Given the description of an element on the screen output the (x, y) to click on. 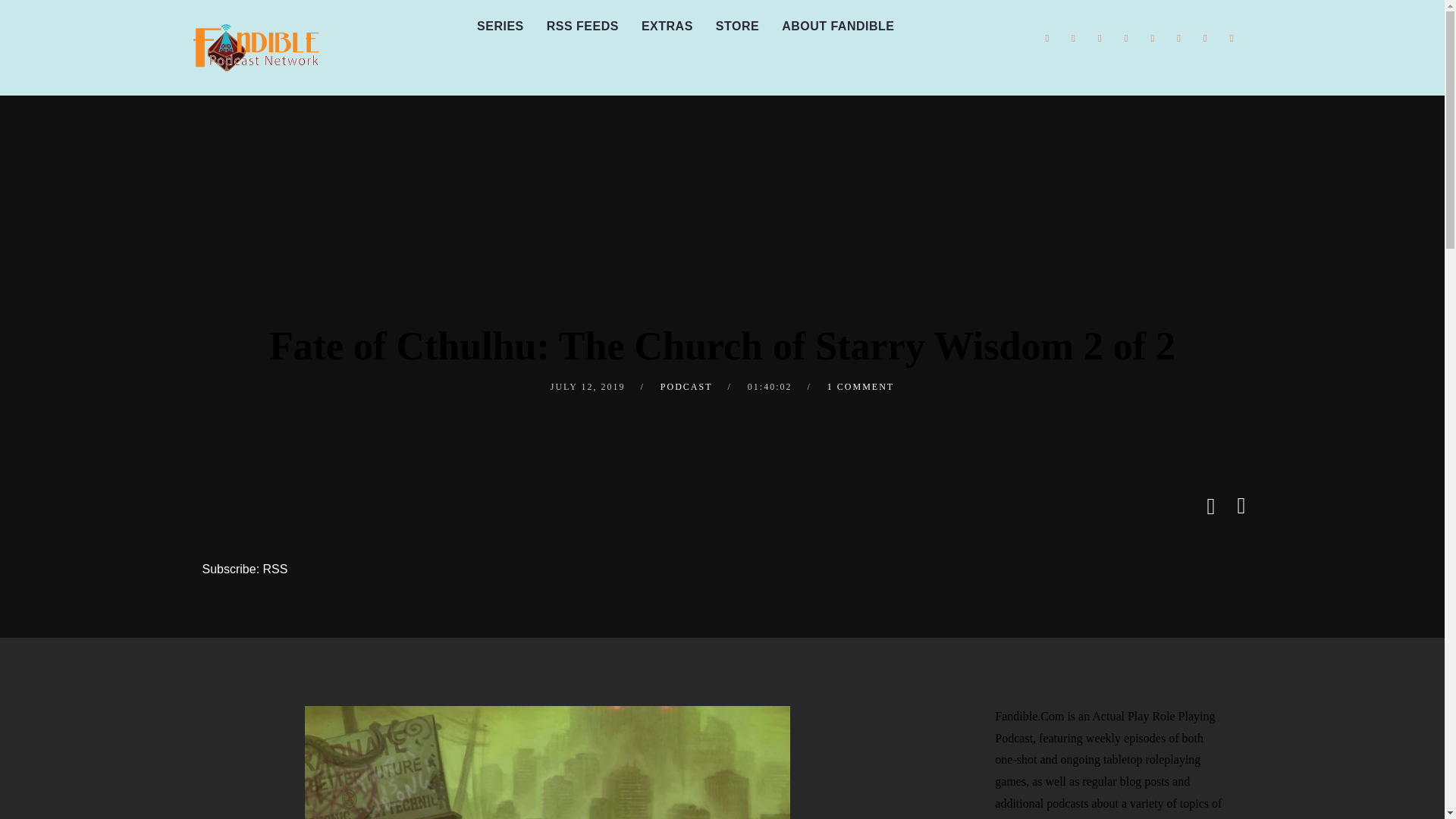
SERIES (500, 26)
EXTRAS (667, 26)
ABOUT FANDIBLE (837, 26)
RSS FEEDS (582, 26)
Fandible Actual Play Podcast (255, 47)
STORE (737, 26)
